Given the description of an element on the screen output the (x, y) to click on. 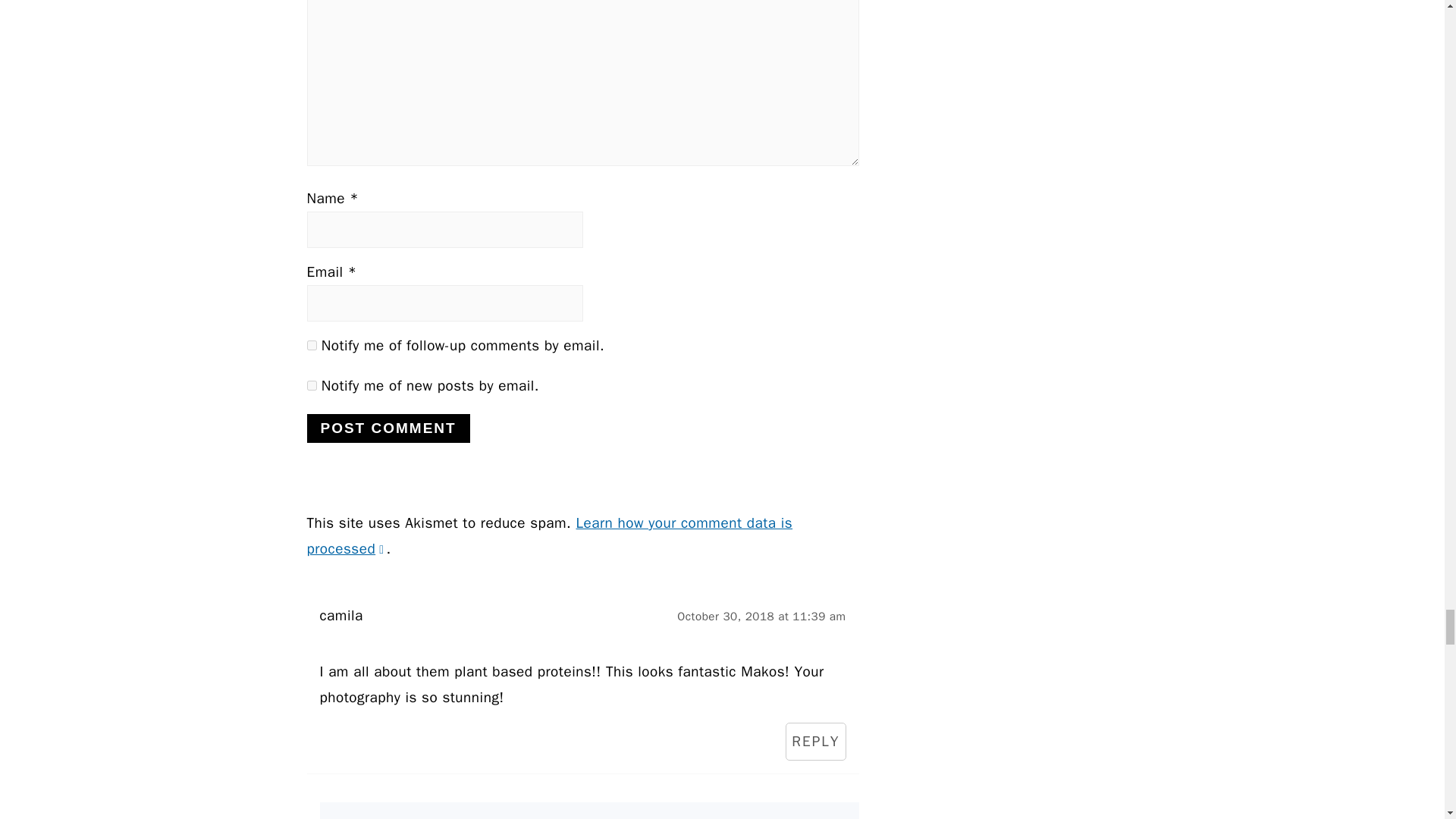
subscribe (310, 345)
Post Comment (386, 428)
subscribe (310, 385)
